Given the description of an element on the screen output the (x, y) to click on. 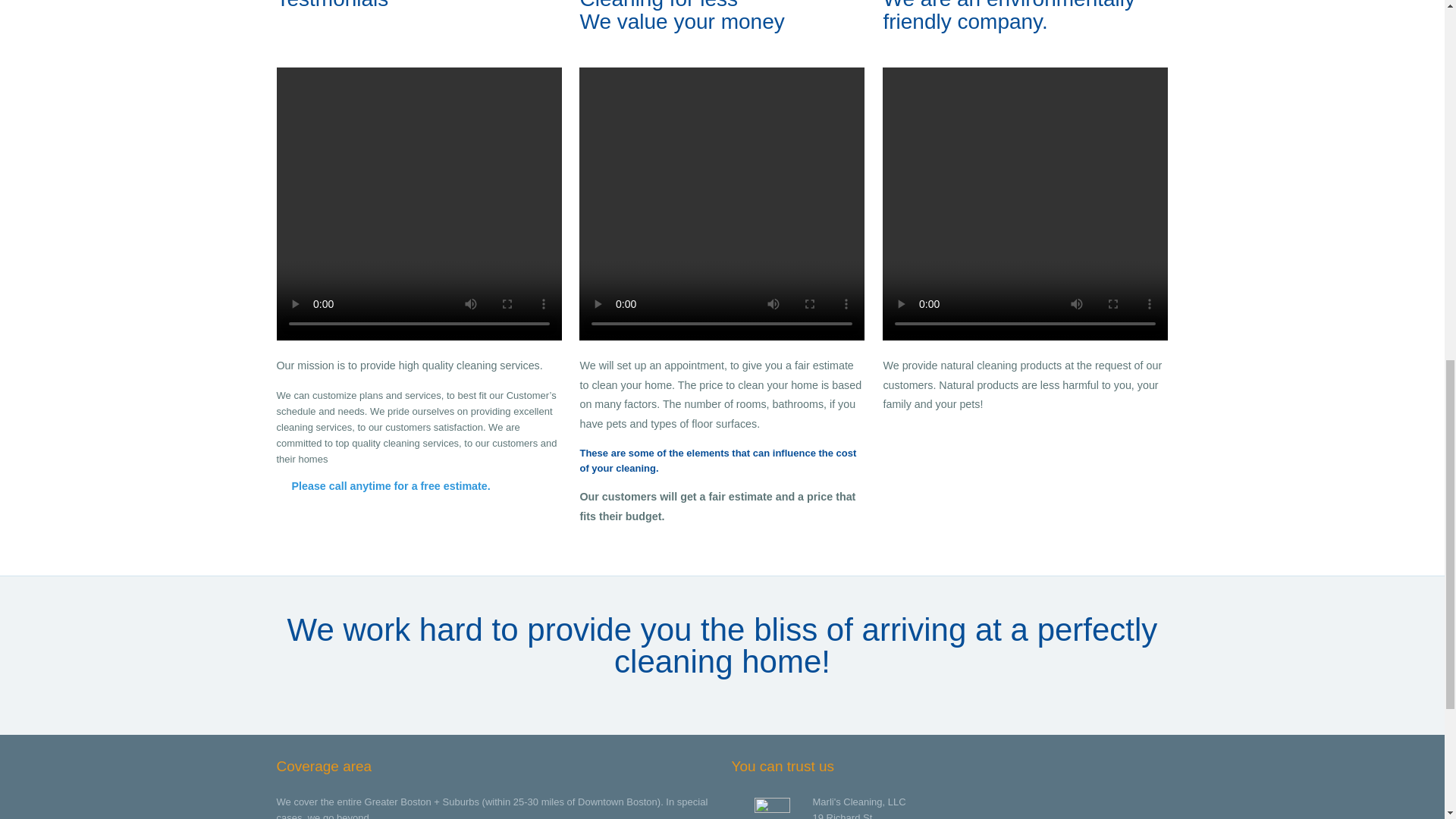
Please call anytime for a free estimate. (382, 485)
